Given the description of an element on the screen output the (x, y) to click on. 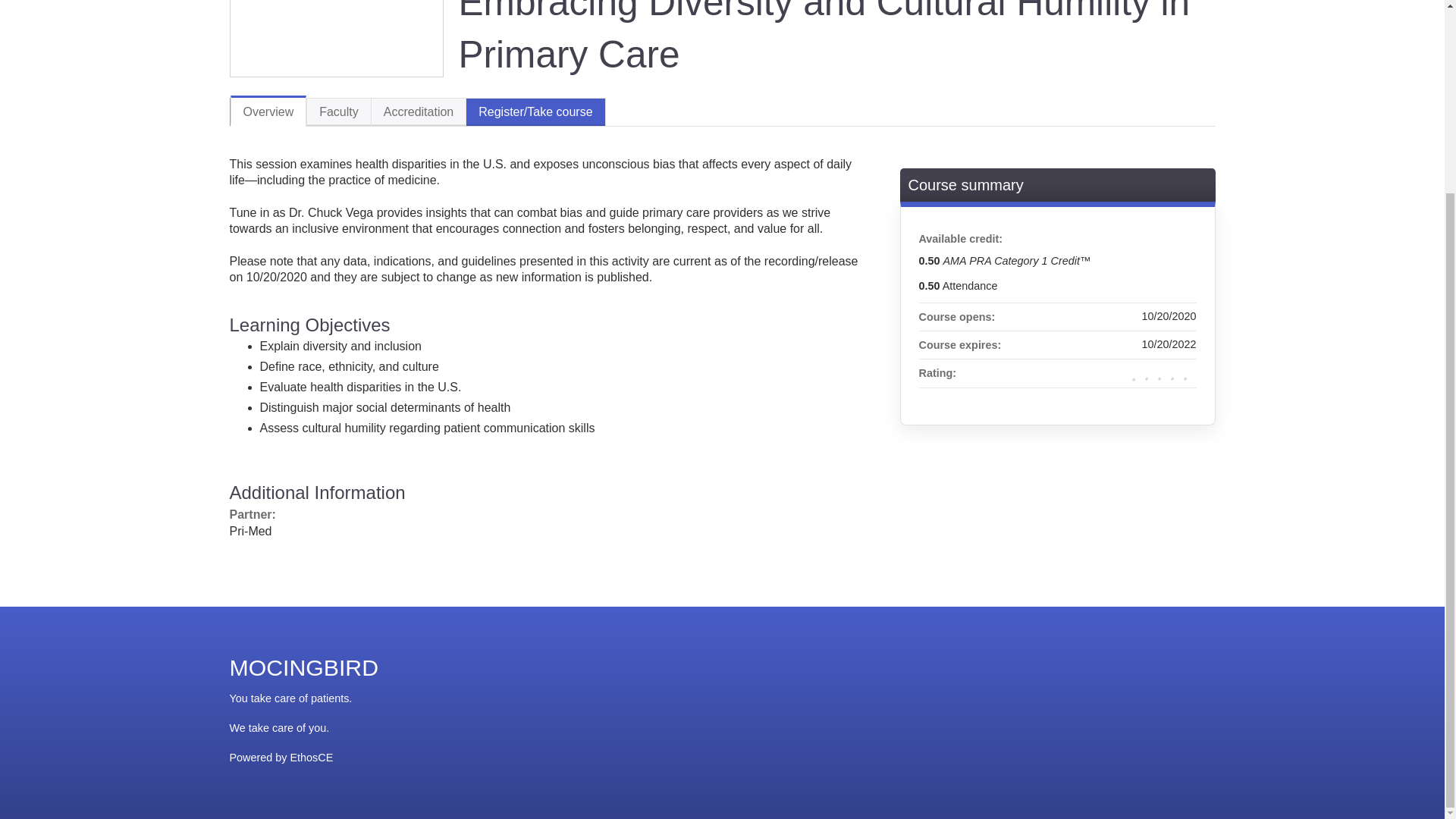
Accreditation (419, 111)
Faculty (338, 111)
Powered by EthosCE (280, 757)
Overview (268, 110)
